Given the description of an element on the screen output the (x, y) to click on. 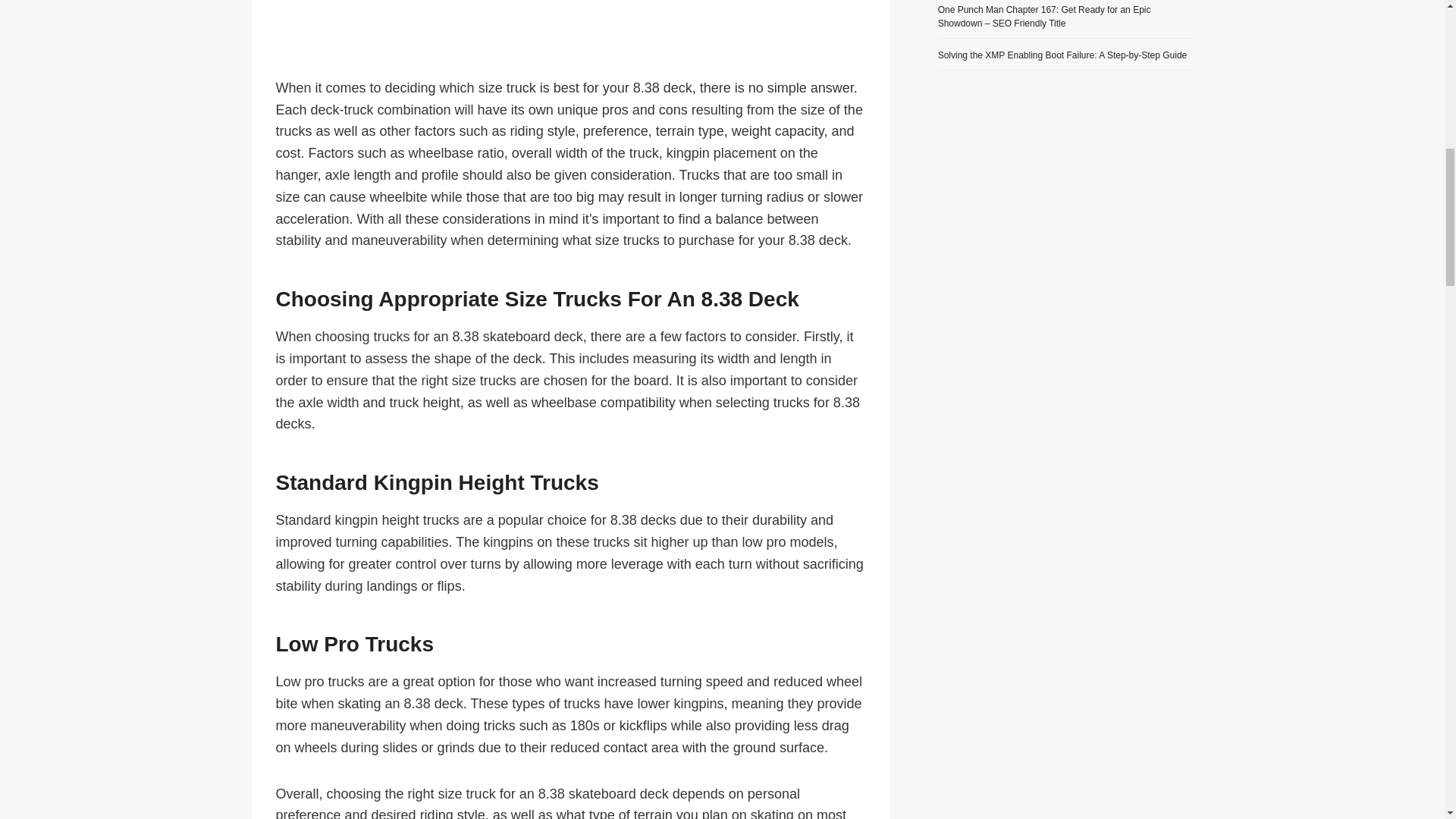
Solving the XMP Enabling Boot Failure: A Step-by-Step Guide (1062, 54)
Advertisement (571, 35)
